Given the description of an element on the screen output the (x, y) to click on. 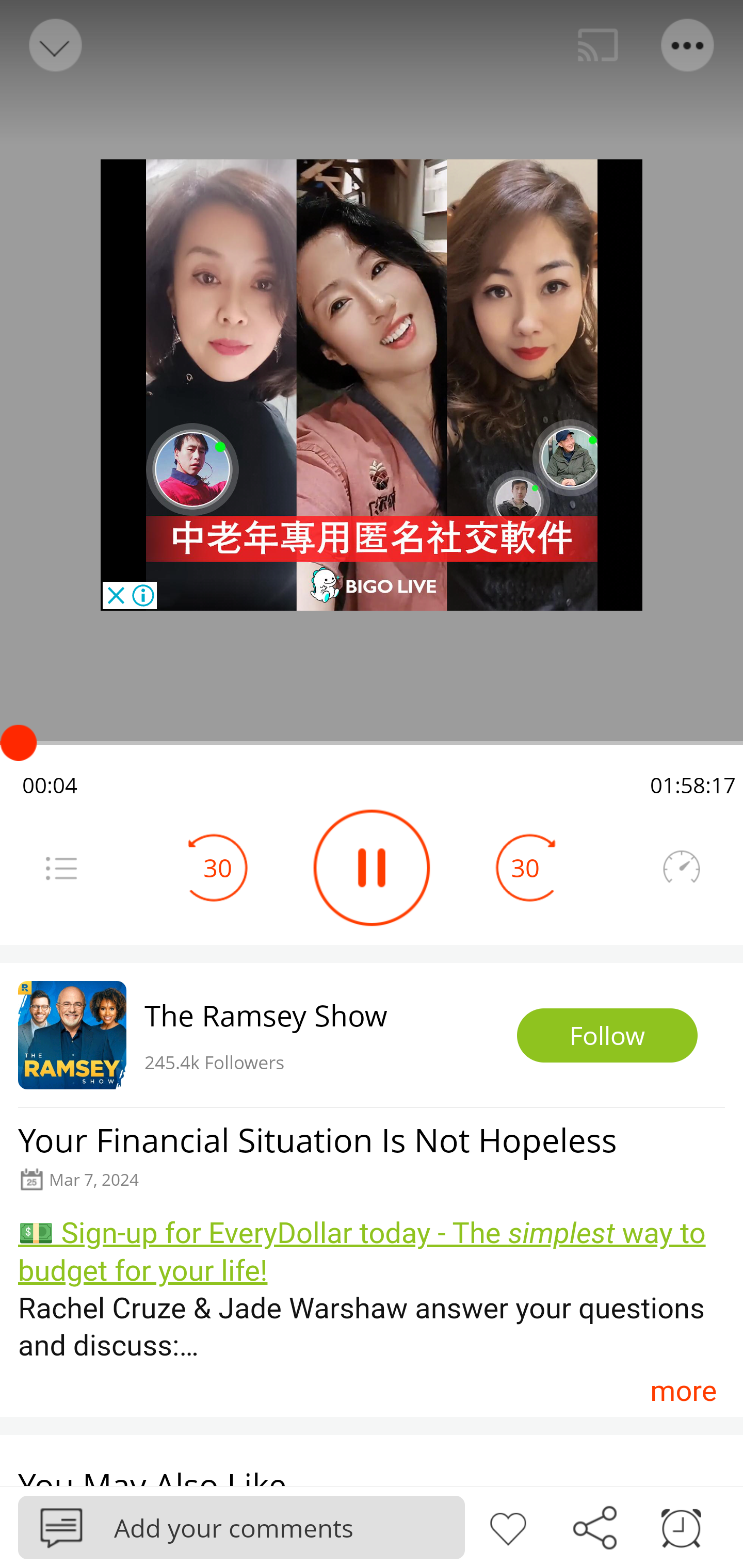
Back (53, 45)
Cast. Disconnected (597, 45)
Menu (688, 45)
Play (371, 867)
30 Seek Backward (217, 867)
30 Seek Forward (525, 867)
Menu (60, 867)
Speedometer (681, 867)
The Ramsey Show 245.4k Followers Follow (371, 1034)
Follow (607, 1035)
more (682, 1390)
Like (508, 1526)
Share (594, 1526)
Sleep timer (681, 1526)
Podbean Add your comments (241, 1526)
